Given the description of an element on the screen output the (x, y) to click on. 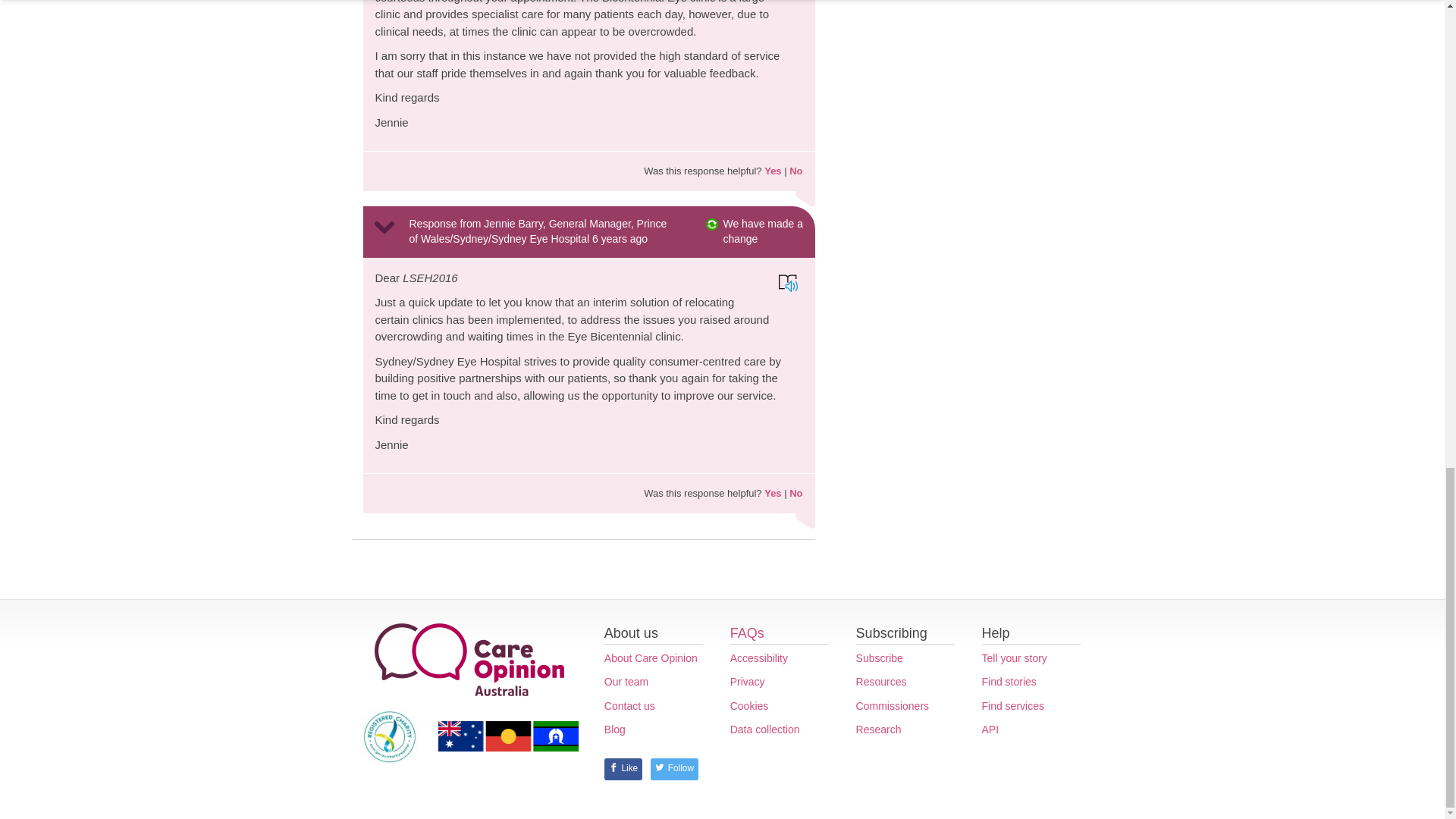
Care Opinion proudly supports reconciliation (508, 736)
Australian Charities and Not-for-profits Commission (389, 736)
